Given the description of an element on the screen output the (x, y) to click on. 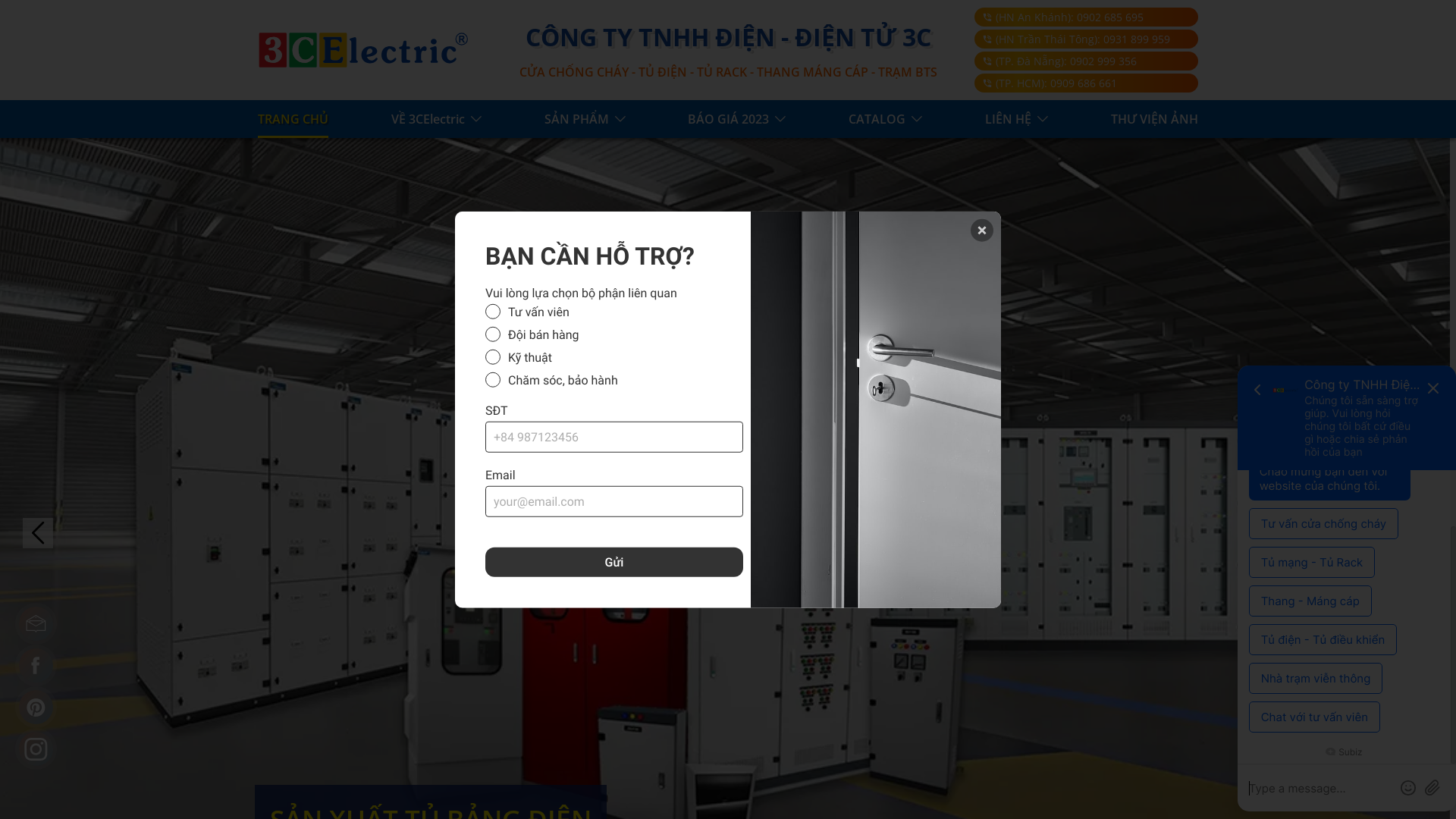
CATALOG Element type: text (885, 119)
Subiz Element type: text (1343, 750)
